Given the description of an element on the screen output the (x, y) to click on. 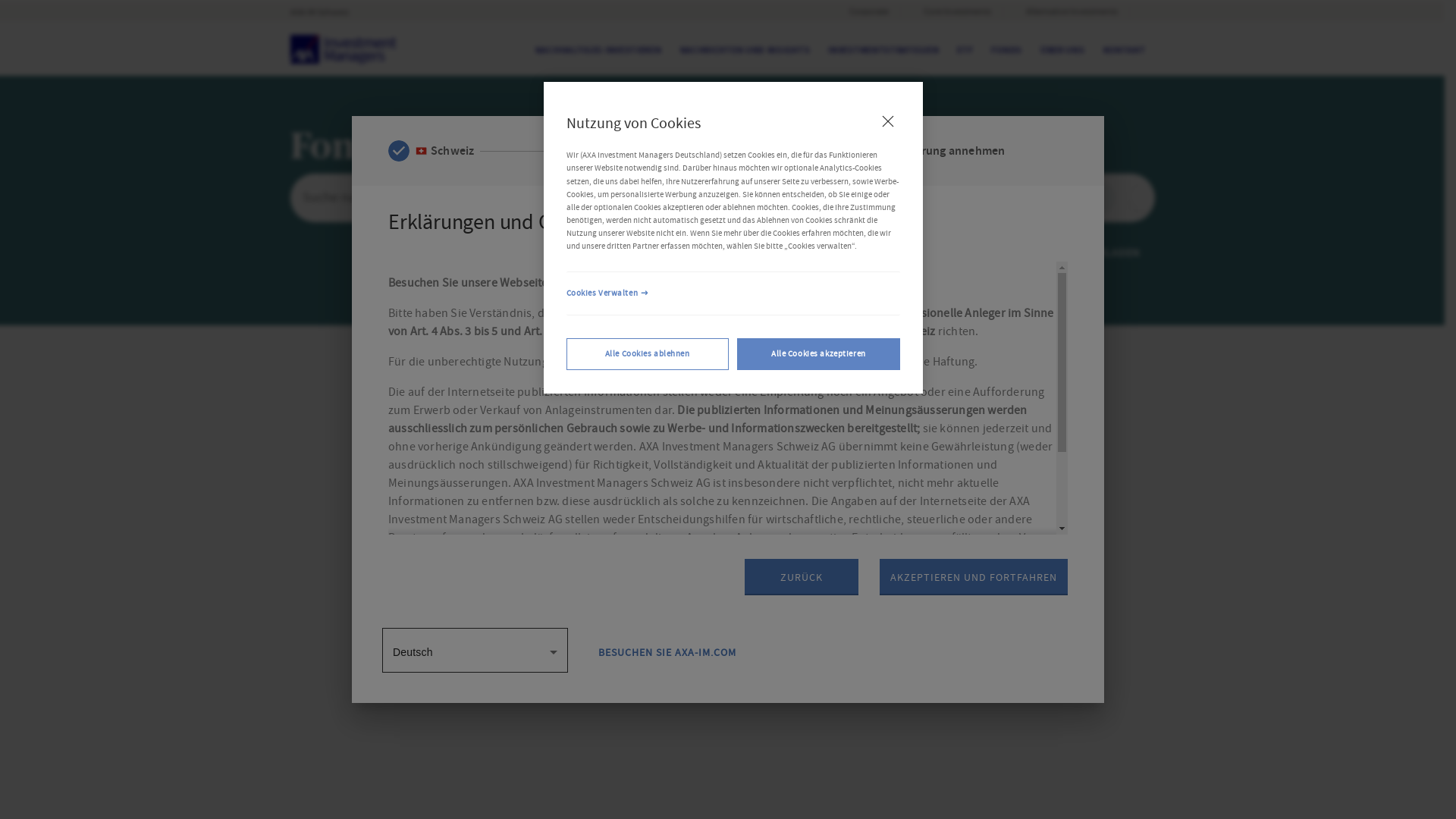
NACHRICHTEN UND INSIGHTS Element type: text (745, 48)
Core Investments Element type: text (951, 11)
AXA IM Element type: hover (342, 48)
INVESTMENTSTRATEGIEN Element type: text (883, 48)
Alternative Investments Element type: text (1066, 11)
FONDS Element type: text (1006, 48)
Corporate Element type: text (863, 11)
ETF Element type: text (964, 48)
Cookies Verwalten Element type: text (733, 293)
Alle Cookies akzeptieren Element type: text (818, 354)
NACHHALTIGES INVESTIEREN Element type: text (598, 48)
KONTAKT Element type: text (1124, 48)
Alle Cookies ablehnen Element type: text (647, 354)
